Given the description of an element on the screen output the (x, y) to click on. 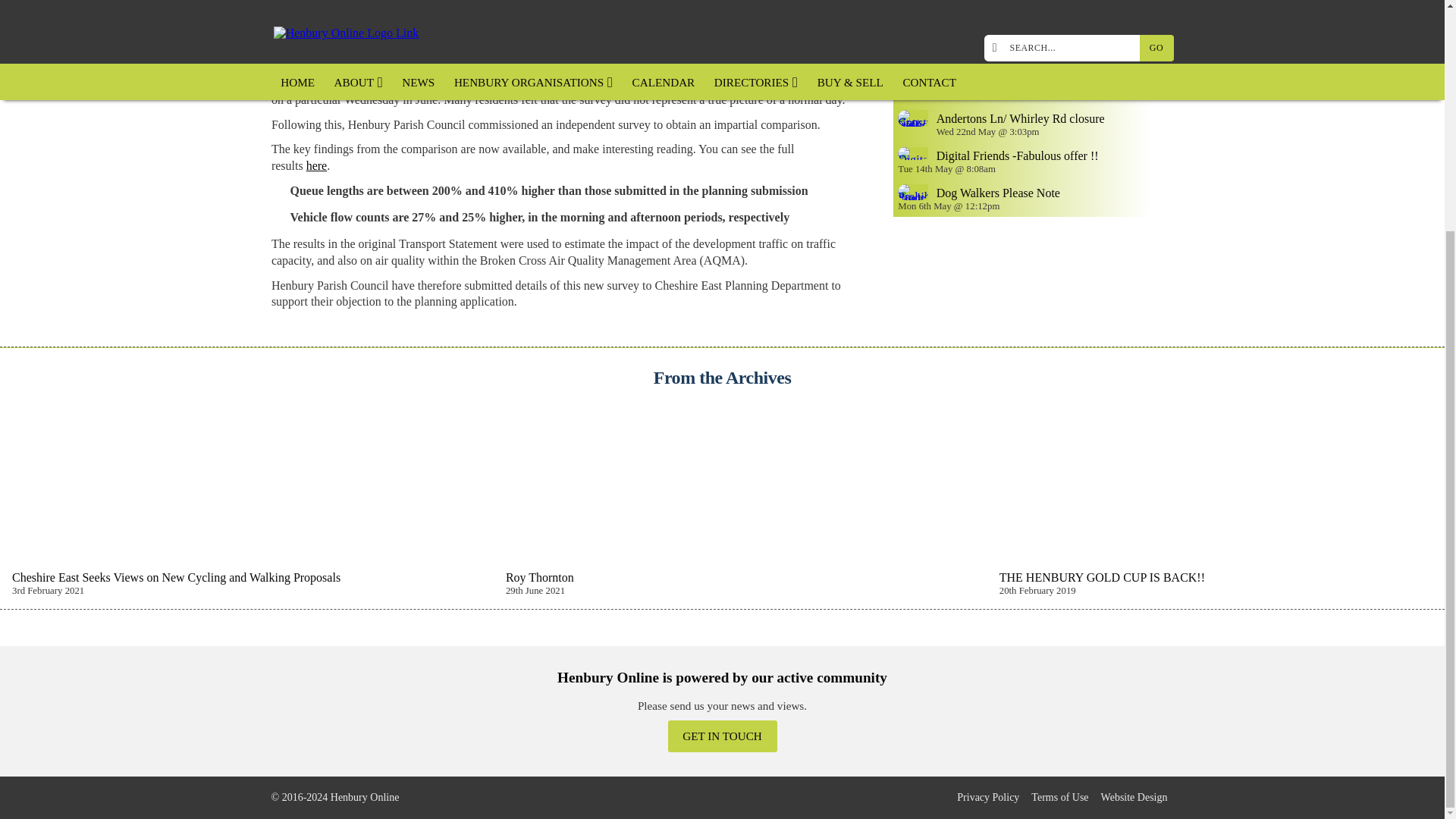
Visit our Facebook Page (423, 796)
Visit our X Feed (441, 796)
